Given the description of an element on the screen output the (x, y) to click on. 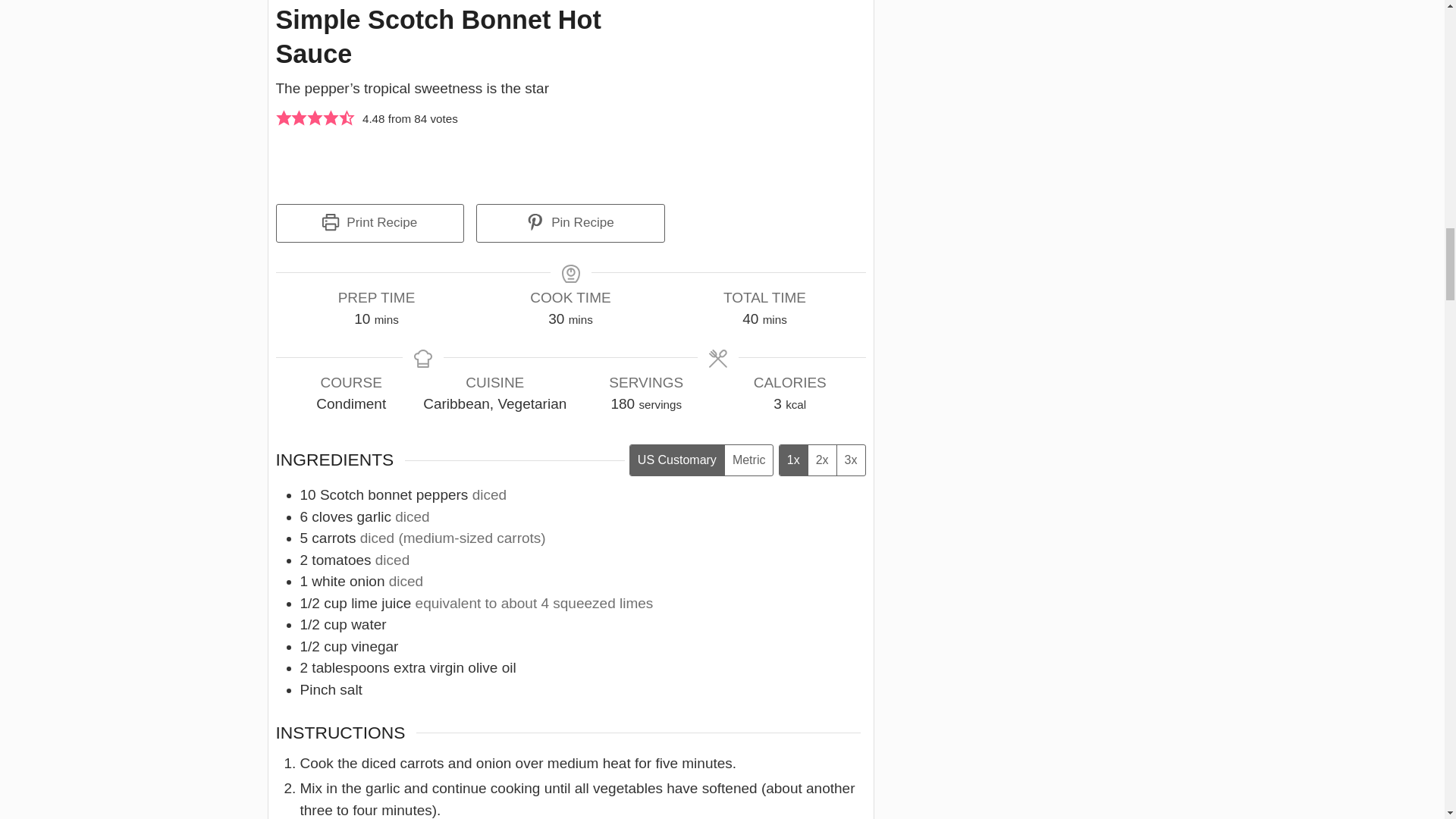
1x (793, 460)
Pin Recipe (570, 222)
Metric (748, 460)
Print Recipe (370, 222)
US Customary (676, 460)
